Given the description of an element on the screen output the (x, y) to click on. 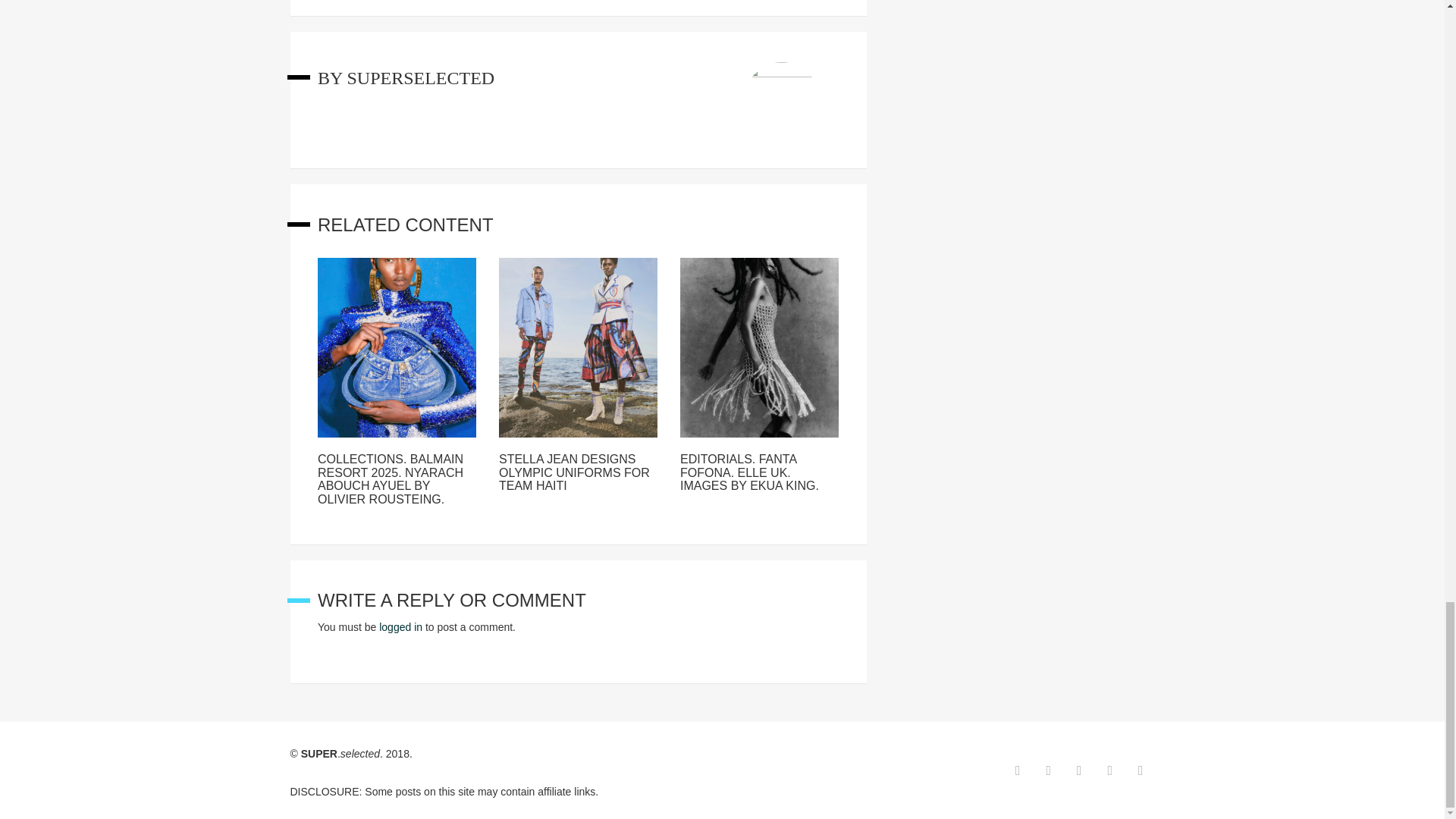
superselected (420, 77)
